Given the description of an element on the screen output the (x, y) to click on. 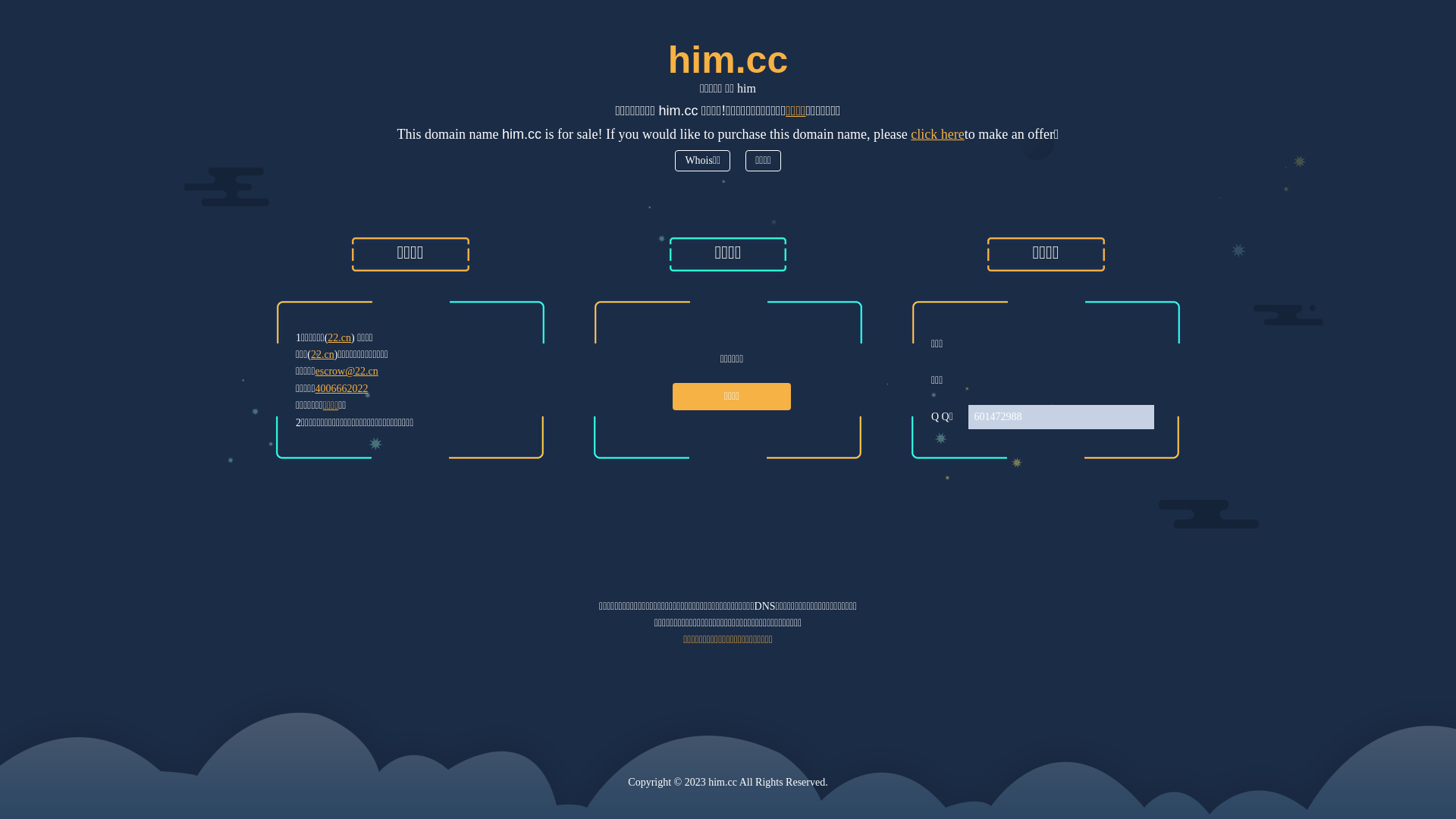
22.cn Element type: text (322, 354)
escrow@22.cn Element type: text (346, 370)
4006662022 Element type: text (341, 388)
click here Element type: text (936, 133)
22.cn Element type: text (339, 337)
